Given the description of an element on the screen output the (x, y) to click on. 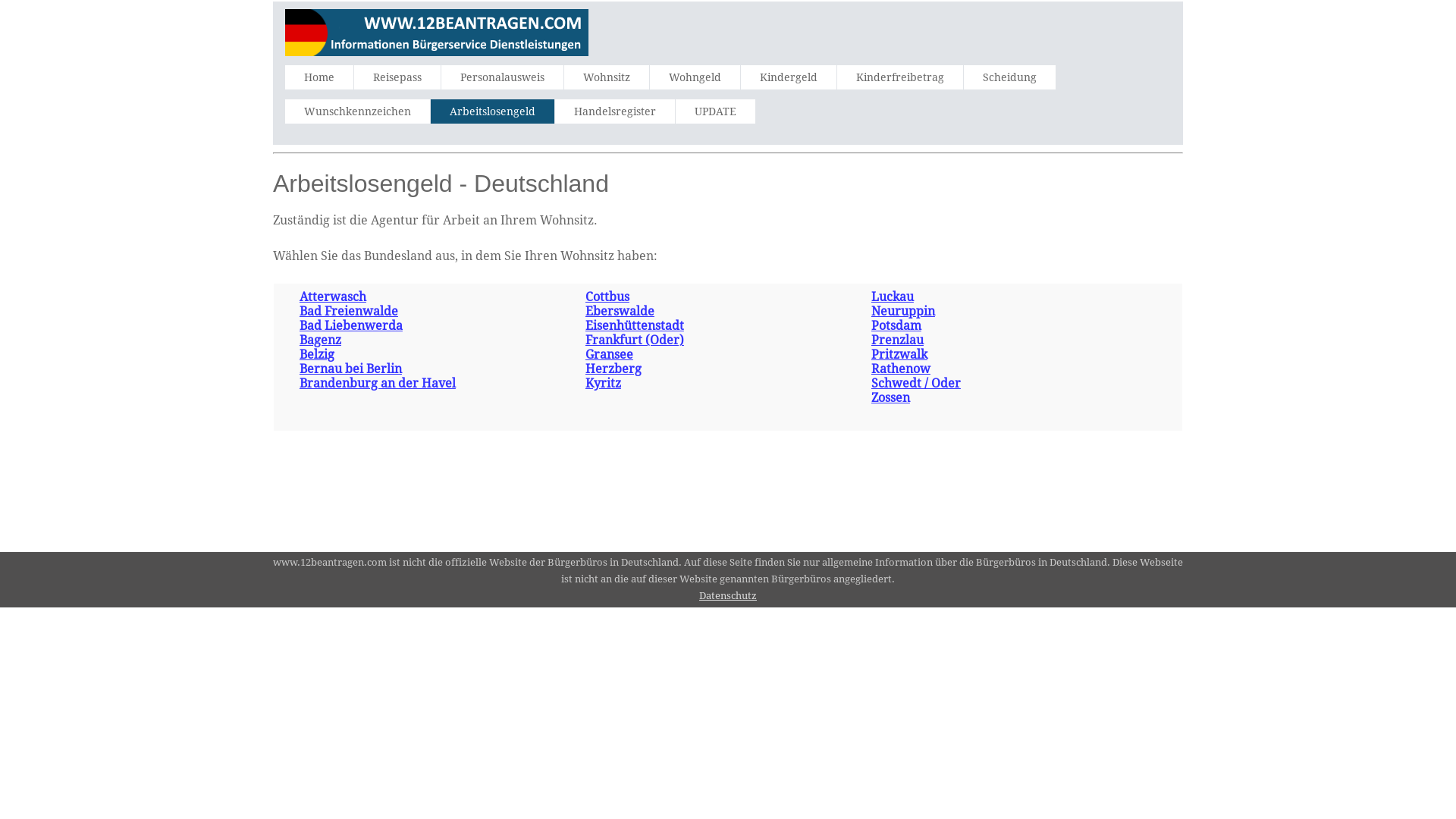
Prenzlau Element type: text (897, 339)
Wohngeld Element type: text (694, 77)
Bernau bei Berlin Element type: text (350, 368)
Kinderfreibetrag Element type: text (900, 77)
Belzig Element type: text (316, 354)
Gransee Element type: text (609, 354)
Bagenz Element type: text (320, 339)
Zossen Element type: text (890, 397)
Potsdam Element type: text (896, 325)
Wohnsitz Element type: text (606, 77)
Reisepass Element type: text (397, 77)
Rathenow Element type: text (900, 368)
Kyritz Element type: text (603, 383)
Brandenburg an der Havel Element type: text (377, 383)
Wunschkennzeichen Element type: text (357, 111)
Schwedt / Oder Element type: text (915, 383)
Home Element type: text (319, 77)
Eberswalde Element type: text (619, 311)
Handelsregister Element type: text (614, 111)
Datenschutz Element type: text (727, 595)
Frankfurt (Oder) Element type: text (634, 339)
Personalausweis Element type: text (502, 77)
Herzberg Element type: text (613, 368)
Arbeitslosengeld Element type: text (492, 111)
Luckau Element type: text (892, 296)
Neuruppin Element type: text (903, 311)
Bad Liebenwerda Element type: text (350, 325)
Atterwasch Element type: text (332, 296)
Bad Freienwalde Element type: text (348, 311)
Pritzwalk Element type: text (899, 354)
Cottbus Element type: text (607, 296)
Scheidung Element type: text (1009, 77)
UPDATE Element type: text (715, 111)
Kindergeld Element type: text (788, 77)
